Given the description of an element on the screen output the (x, y) to click on. 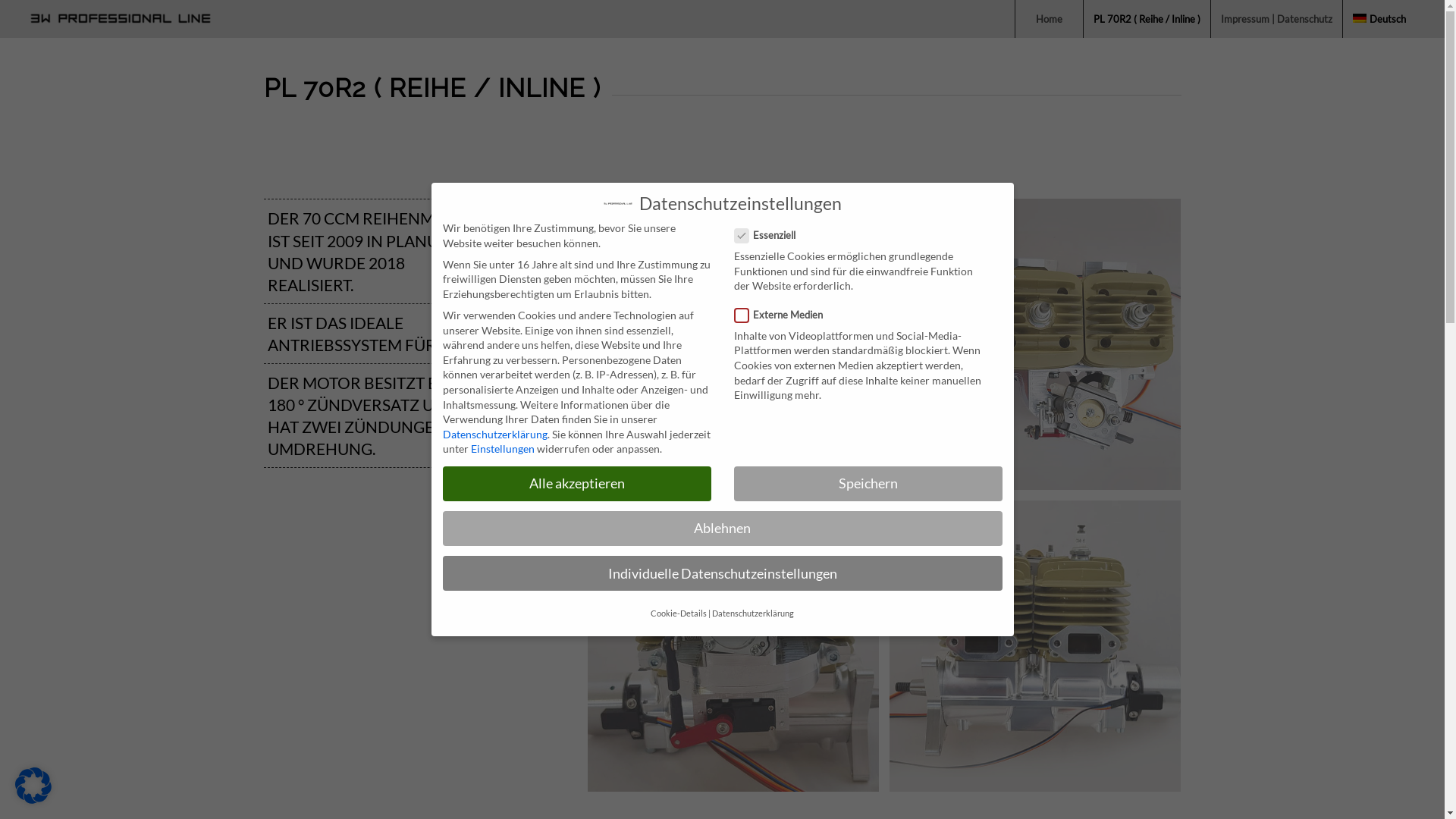
Cookie-Details Element type: text (678, 613)
pl-70-04 Element type: hover (1034, 645)
Alle akzeptieren Element type: text (576, 483)
pl-70-01 Element type: hover (738, 349)
pl-70-03 Element type: hover (738, 651)
pl-70-02 Element type: hover (1040, 349)
Individuelle Datenschutzeinstellungen Element type: text (722, 572)
Einstellungen Element type: text (501, 448)
pl-70-02 Element type: hover (1034, 343)
Ablehnen Element type: text (722, 528)
Impressum | Datenschutz Element type: text (1276, 18)
Home Element type: text (1048, 18)
PL 70R2 ( Reihe / Inline ) Element type: text (1146, 18)
Speichern Element type: text (868, 483)
pl-70-01 Element type: hover (732, 343)
pl-70-03 Element type: hover (732, 645)
Deutsch Element type: text (1378, 18)
pl-70-04 Element type: hover (1040, 651)
